Given the description of an element on the screen output the (x, y) to click on. 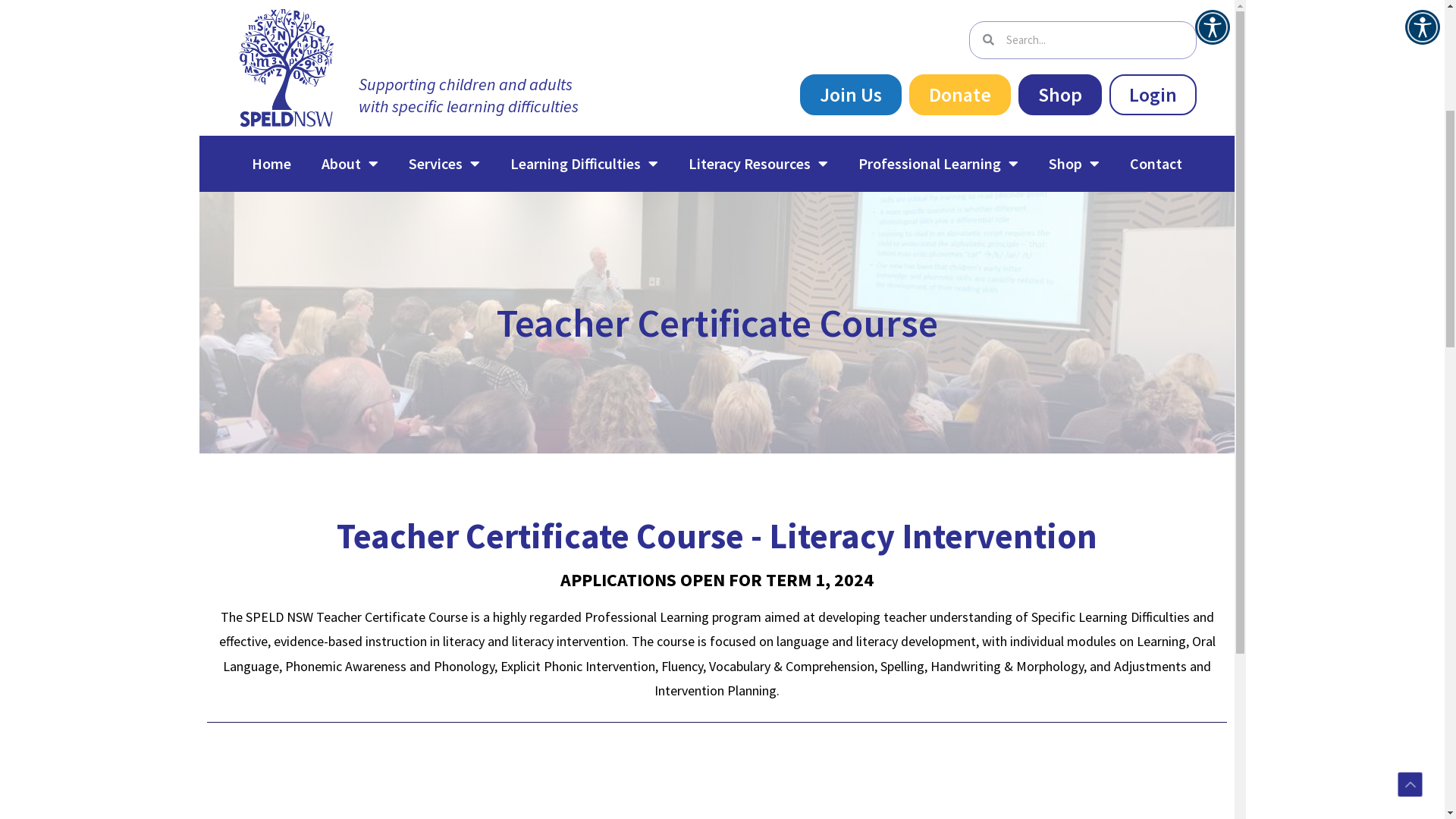
Donate Element type: text (1169, 94)
Services Element type: text (449, 163)
Shop Element type: text (1269, 94)
Shop Element type: text (1079, 163)
Literacy Resources Element type: text (763, 163)
Professional Learning Element type: text (943, 163)
About Element type: text (354, 163)
Join Us Element type: text (1060, 94)
Login Element type: text (1362, 94)
Contact Element type: text (1161, 163)
Home Element type: text (276, 163)
Learning Difficulties Element type: text (589, 163)
